Given the description of an element on the screen output the (x, y) to click on. 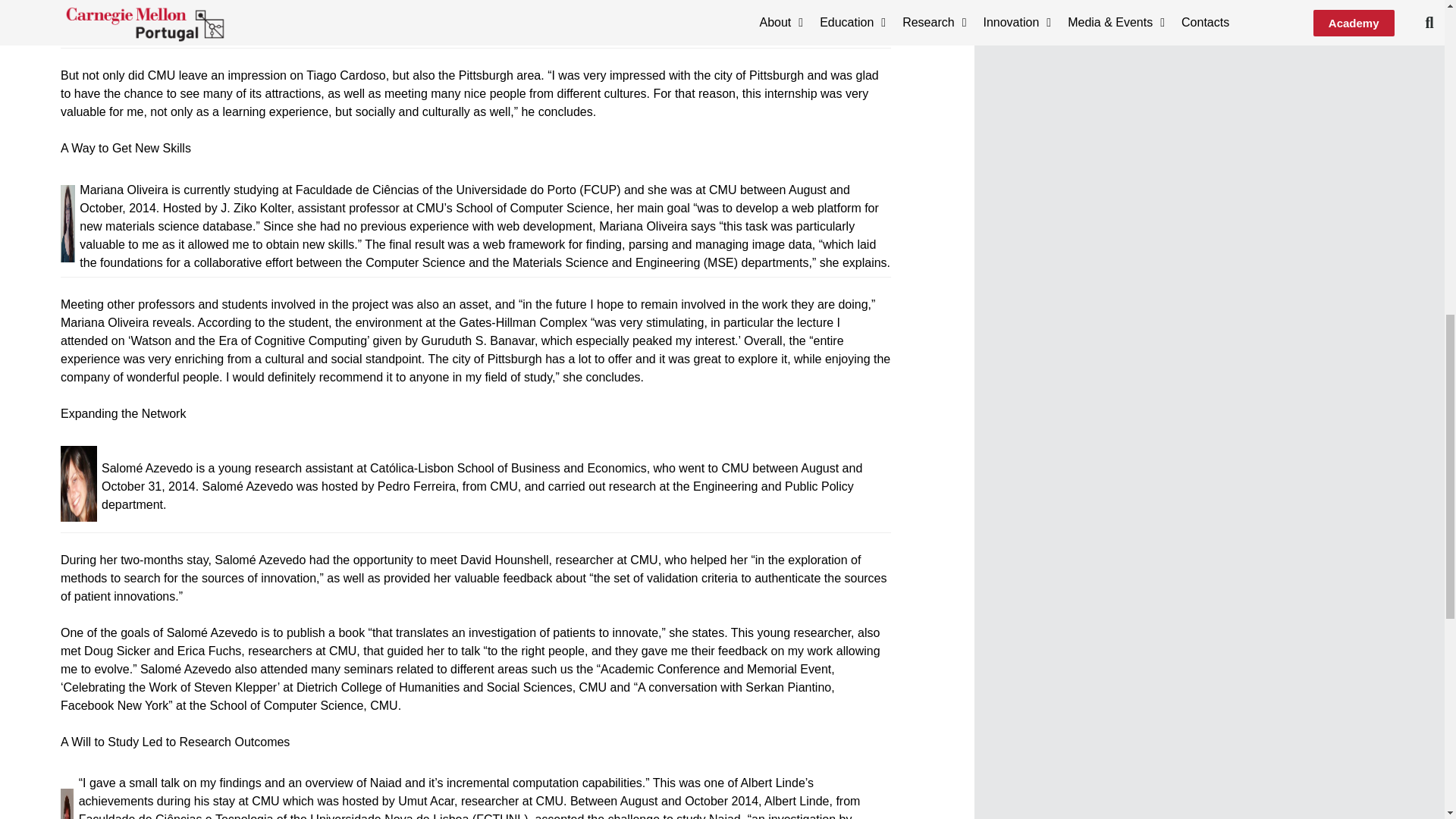
David Garlan (883, 1)
